Given the description of an element on the screen output the (x, y) to click on. 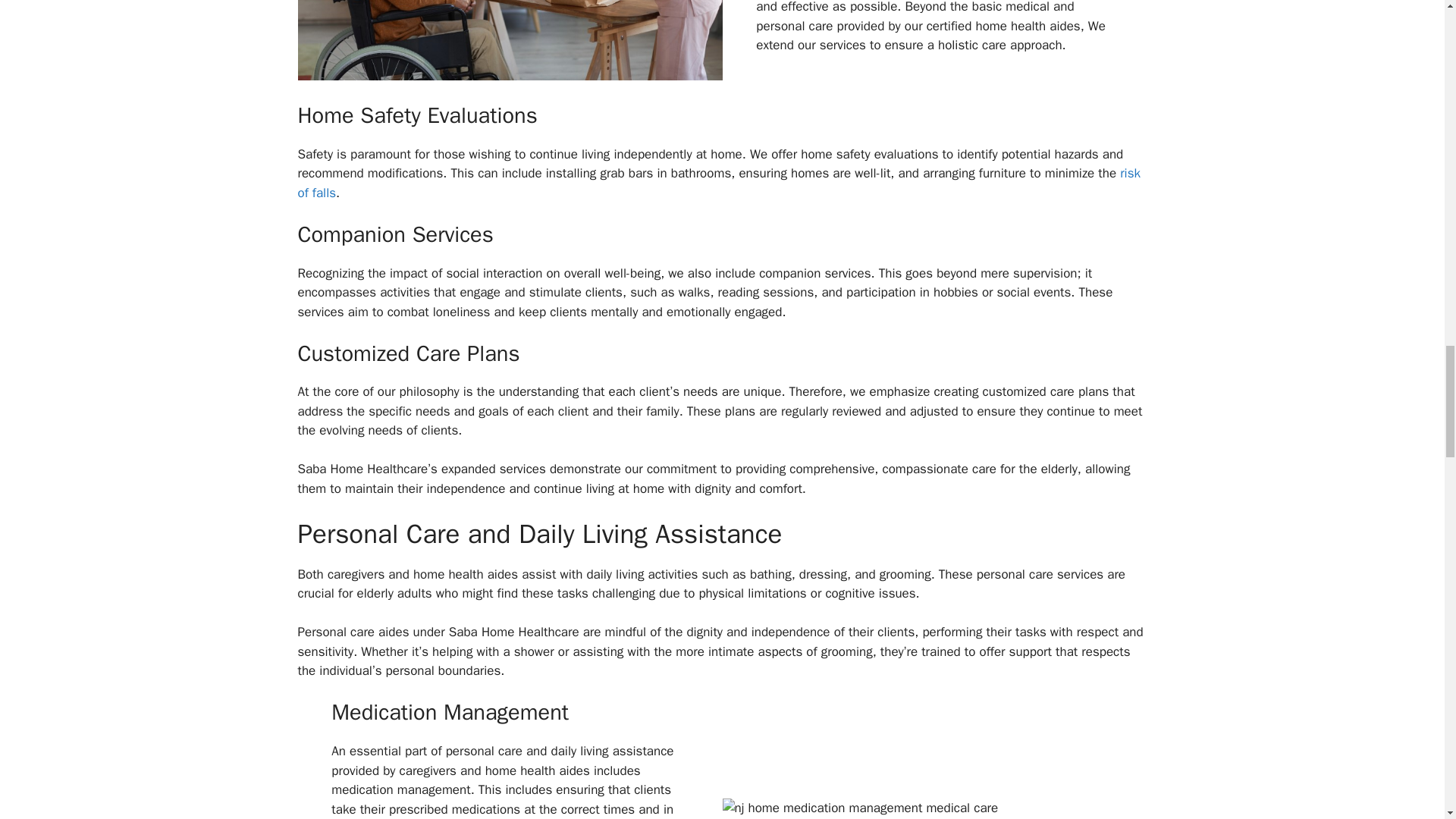
risk of falls (718, 182)
